Given the description of an element on the screen output the (x, y) to click on. 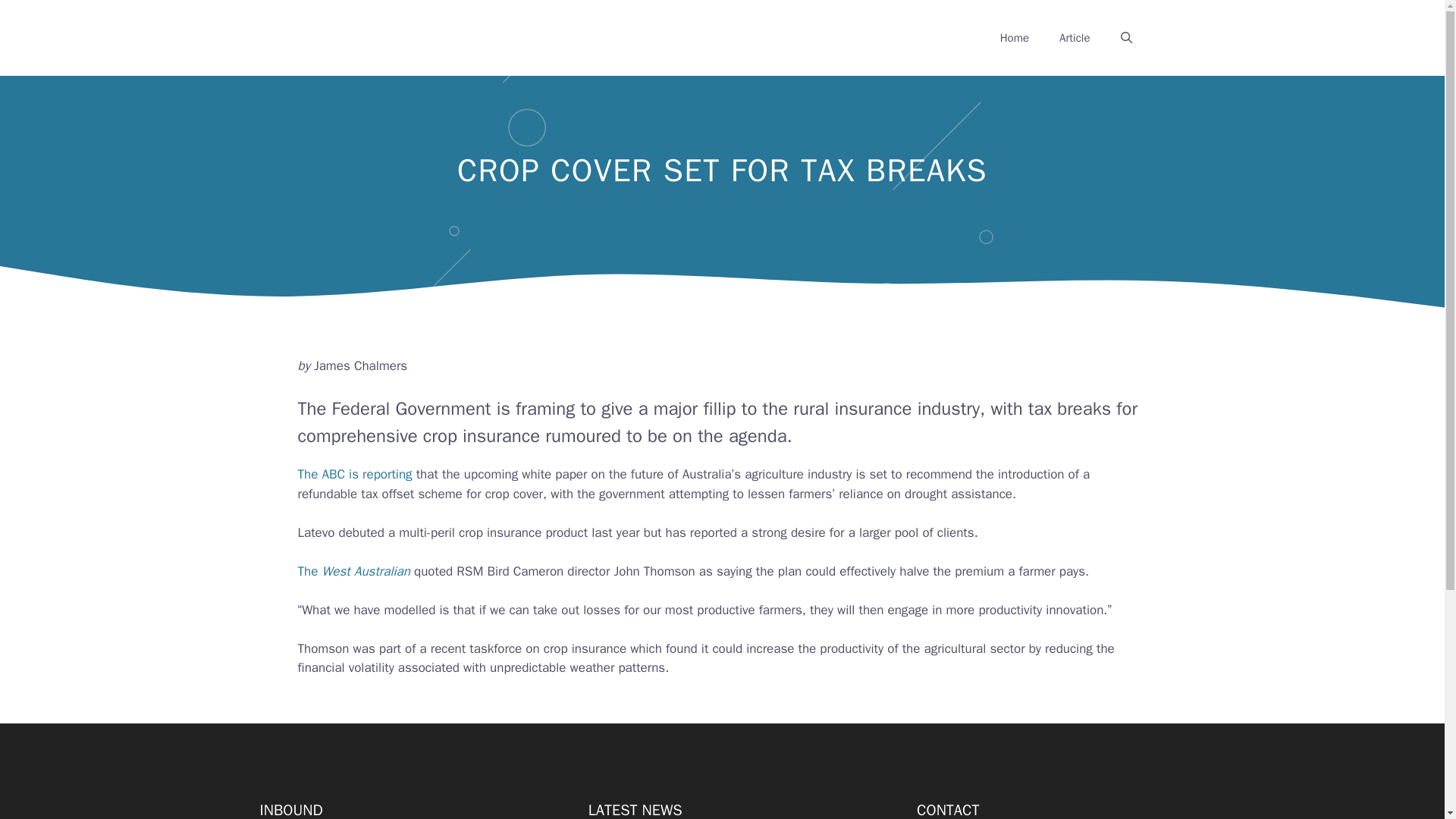
Home (1014, 37)
The West Australian (353, 571)
The ABC is reporting (354, 474)
Article (1074, 37)
Insurance and Risk (383, 37)
